Given the description of an element on the screen output the (x, y) to click on. 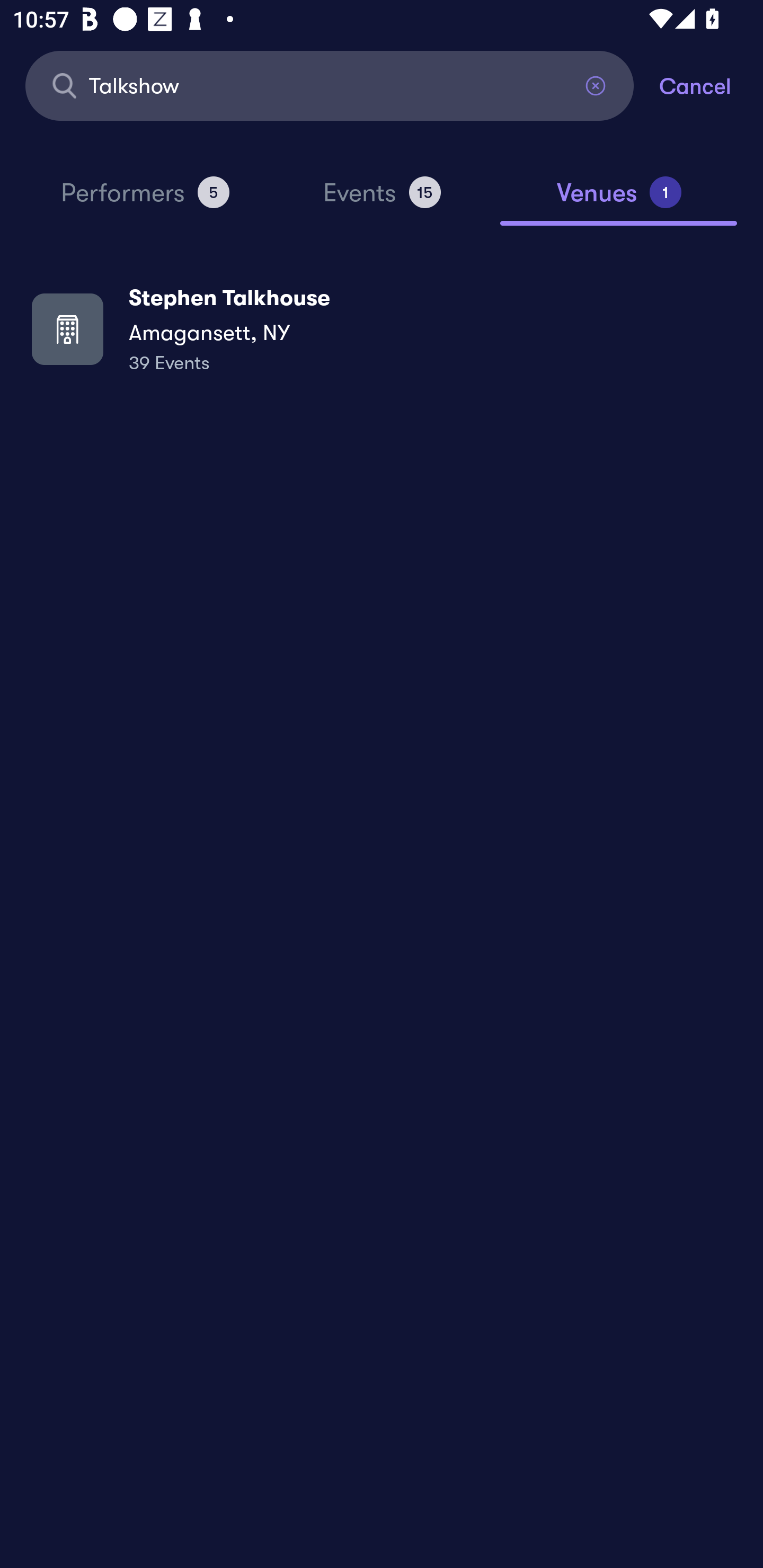
Talkshow Find (329, 85)
Talkshow Find (329, 85)
Cancel (711, 85)
Performers 5 (144, 200)
Events 15 (381, 200)
Venues 1 (618, 200)
Stephen Talkhouse Amagansett, NY 39 Events (381, 328)
